Given the description of an element on the screen output the (x, y) to click on. 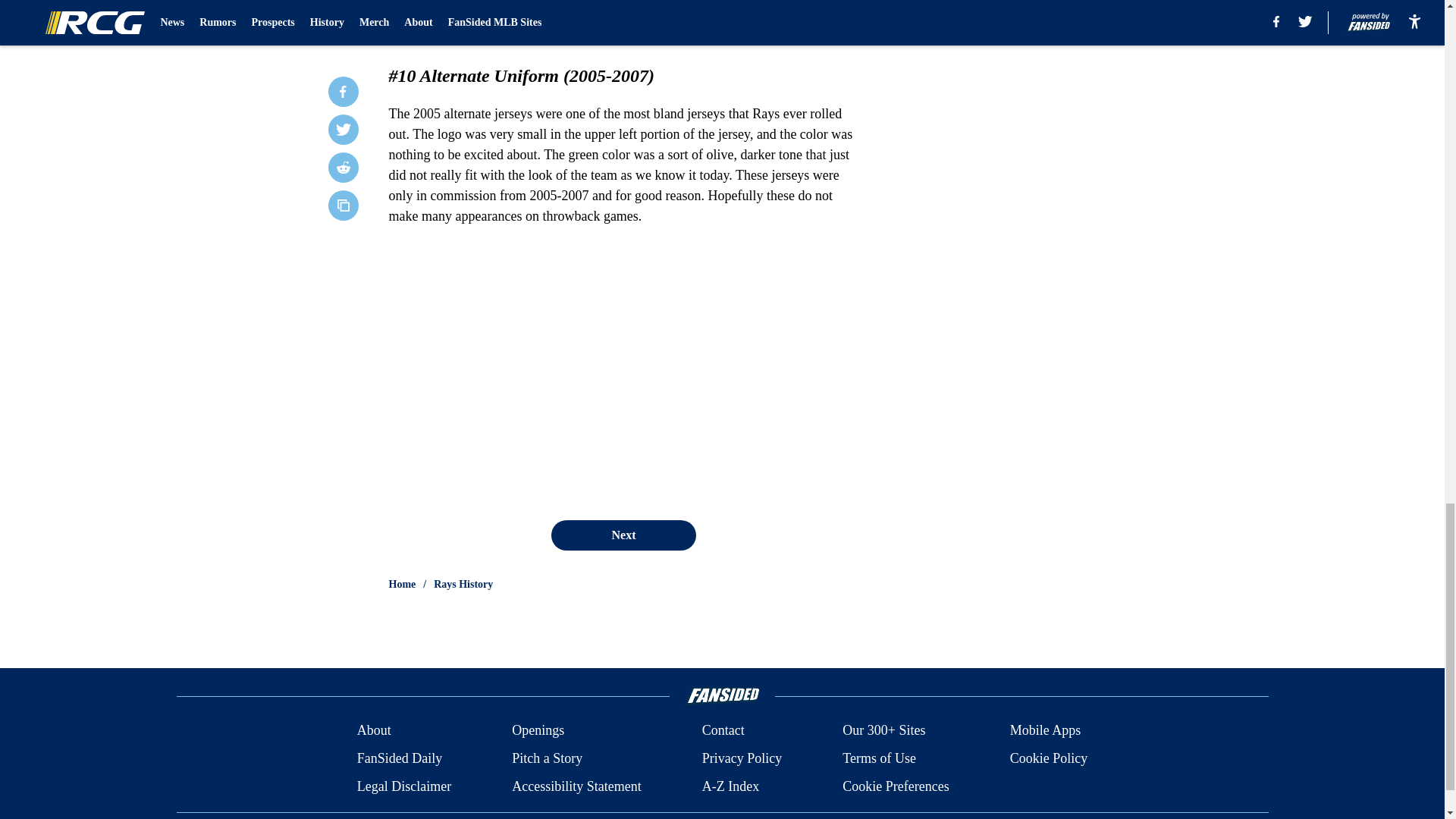
Legal Disclaimer (403, 786)
Mobile Apps (1045, 730)
Pitch a Story (547, 758)
Terms of Use (879, 758)
Home (401, 584)
Contact (722, 730)
Next (622, 535)
About (373, 730)
Openings (538, 730)
Privacy Policy (742, 758)
FanSided Daily (399, 758)
Accessibility Statement (576, 786)
Rays History (463, 584)
Cookie Policy (1048, 758)
